Given the description of an element on the screen output the (x, y) to click on. 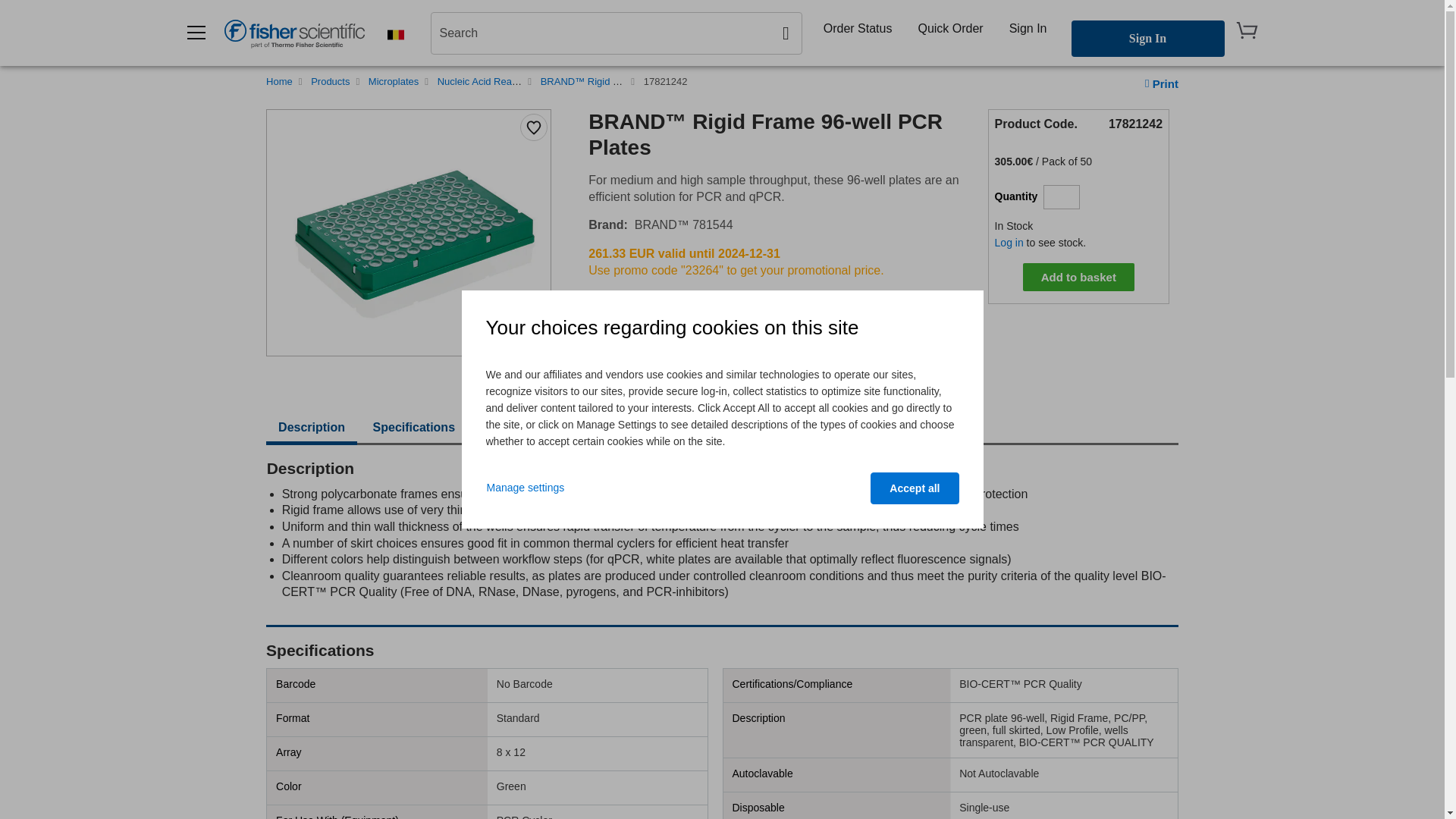
Nucleic Acid Reaction Assay Microplates (526, 81)
Products (330, 81)
17821242 (665, 81)
Sign In (1028, 28)
Order Status (857, 28)
Quick Order (949, 28)
Sign In (1147, 38)
Home (279, 81)
Microplates (393, 81)
Print (1160, 83)
